Given the description of an element on the screen output the (x, y) to click on. 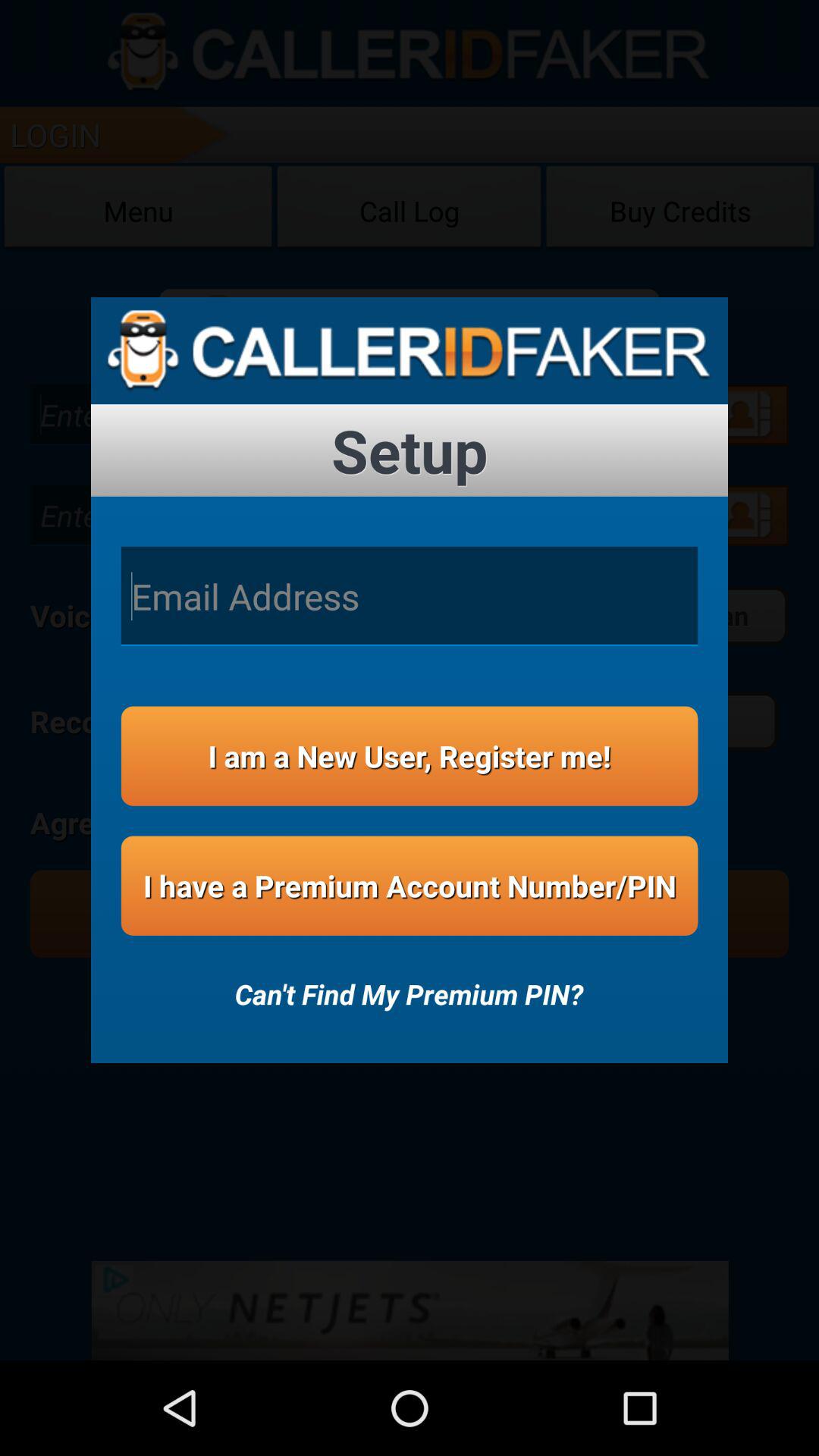
launch icon above the setup app (409, 350)
